Given the description of an element on the screen output the (x, y) to click on. 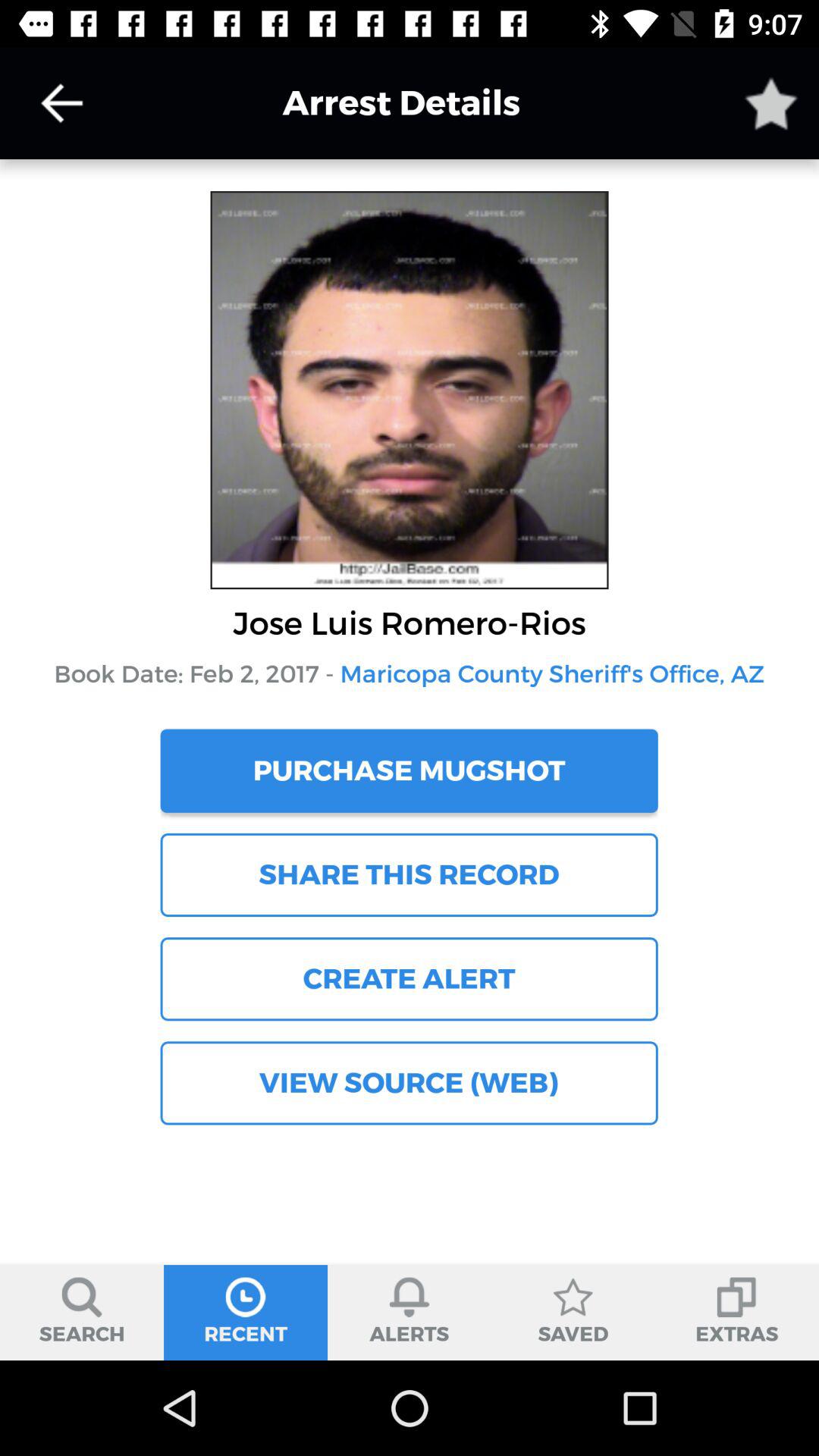
launch the icon above the create alert icon (409, 874)
